Given the description of an element on the screen output the (x, y) to click on. 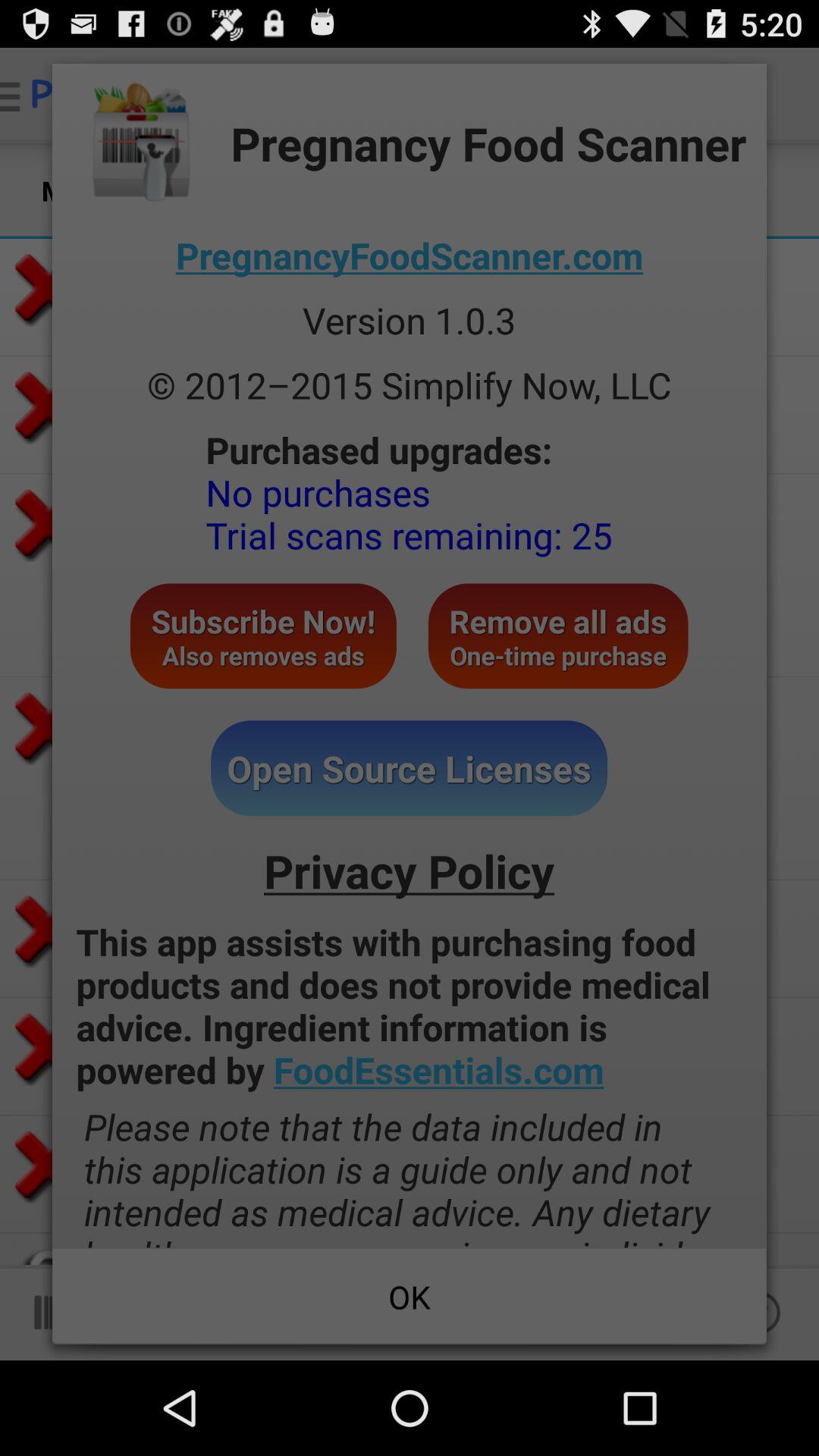
launch the item next to subscribe now also (558, 635)
